Given the description of an element on the screen output the (x, y) to click on. 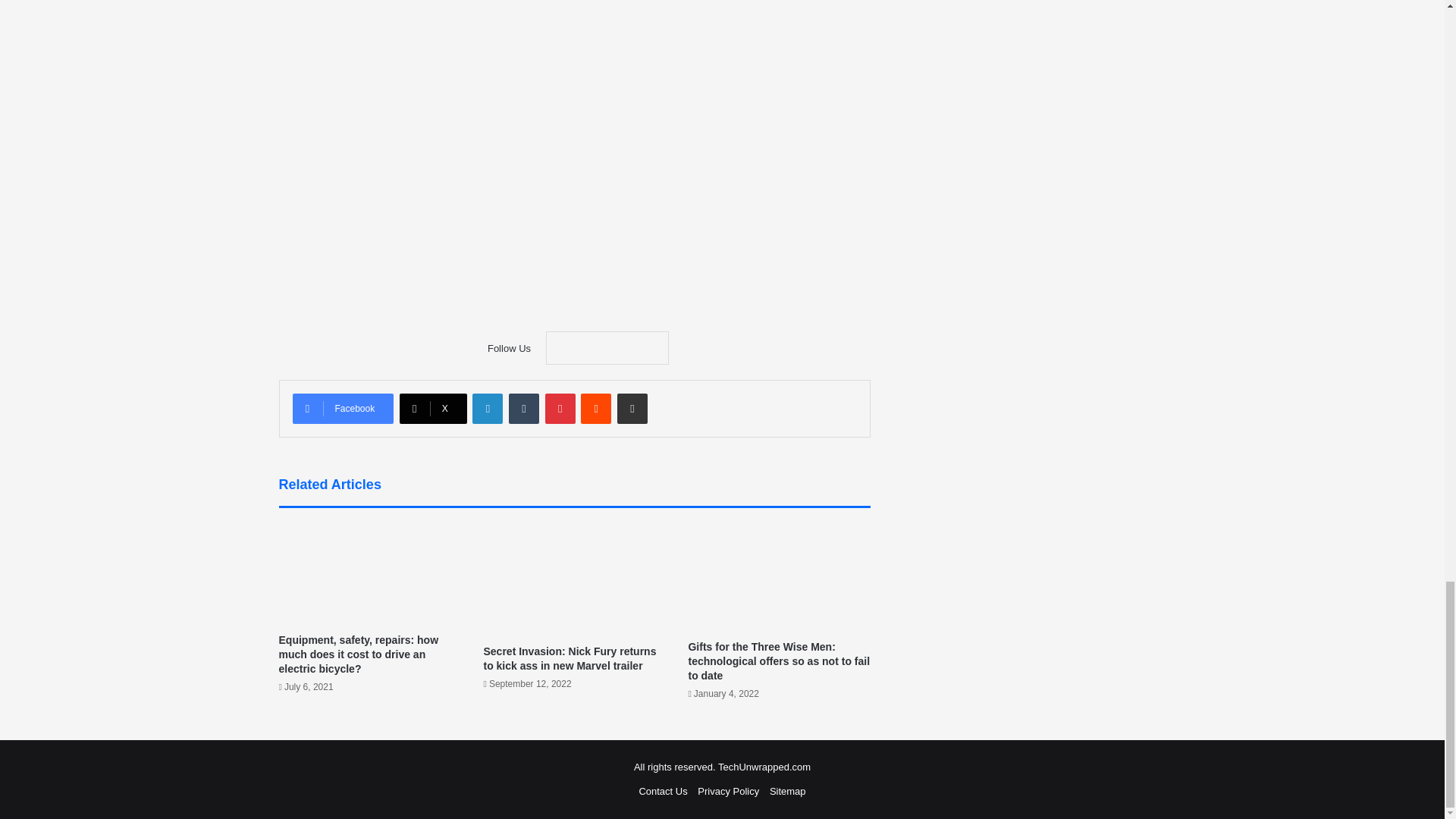
Reddit (595, 408)
Pinterest (559, 408)
Share via Email (632, 408)
Contact Us (663, 790)
LinkedIn (486, 408)
Tumblr (523, 408)
Tumblr (523, 408)
X (432, 408)
Facebook (343, 408)
Privacy Policy (727, 790)
Google News (607, 347)
Facebook (343, 408)
